Given the description of an element on the screen output the (x, y) to click on. 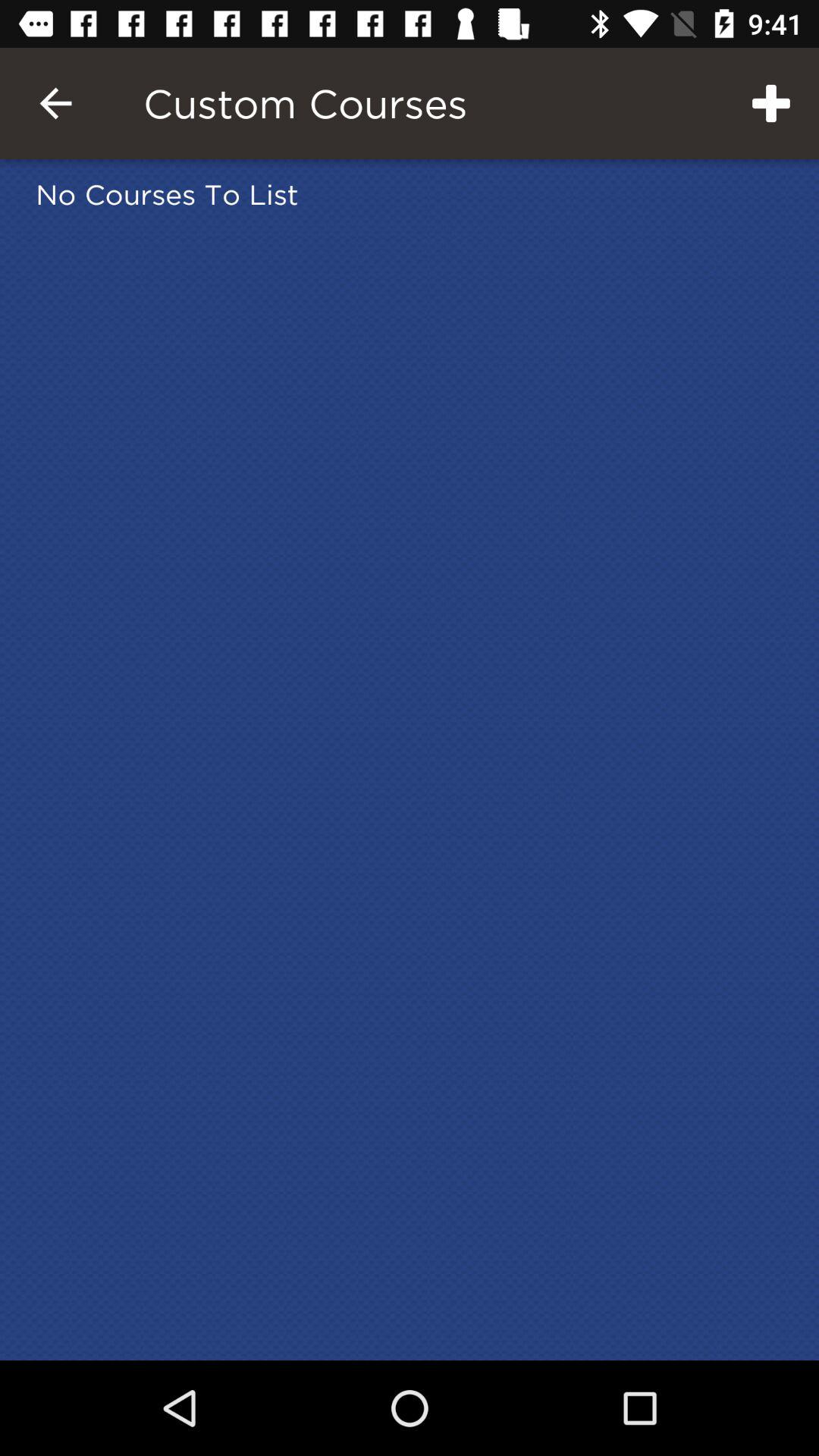
tap item to the right of the custom courses (771, 103)
